Given the description of an element on the screen output the (x, y) to click on. 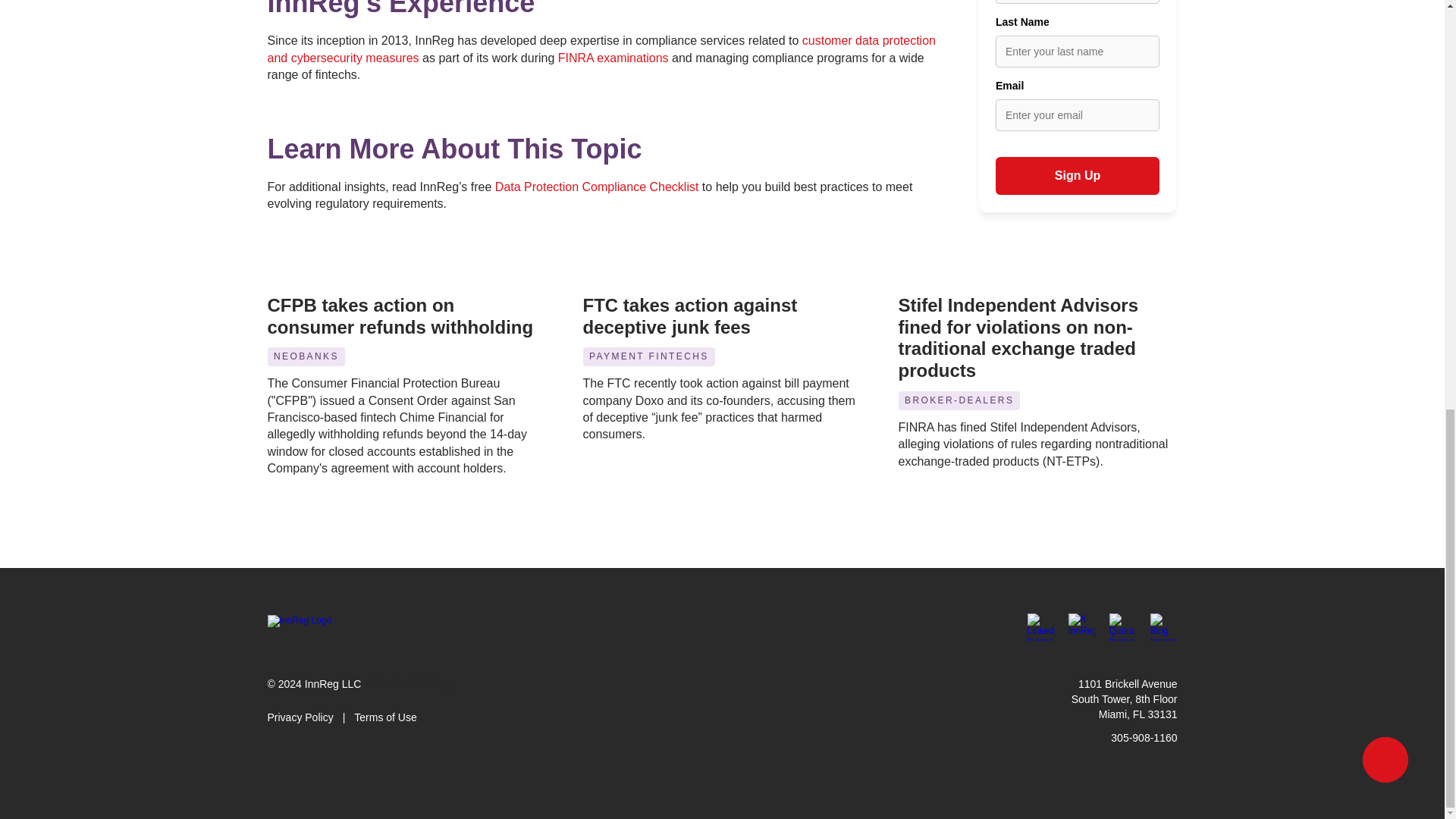
Cookie Settings (411, 684)
NEOBANKS (304, 356)
FTC takes action against deceptive junk fees (692, 315)
Data Protection Compliance Checklist (596, 186)
Terms of Use (384, 717)
PAYMENT FINTECHS (648, 356)
CFPB takes action on consumer refunds withholding (399, 315)
FINRA examinations (612, 57)
Privacy Policy (299, 717)
305-908-1160 (1143, 737)
BROKER-DEALERS (958, 400)
customer data protection and cybersecurity measures (602, 48)
